Given the description of an element on the screen output the (x, y) to click on. 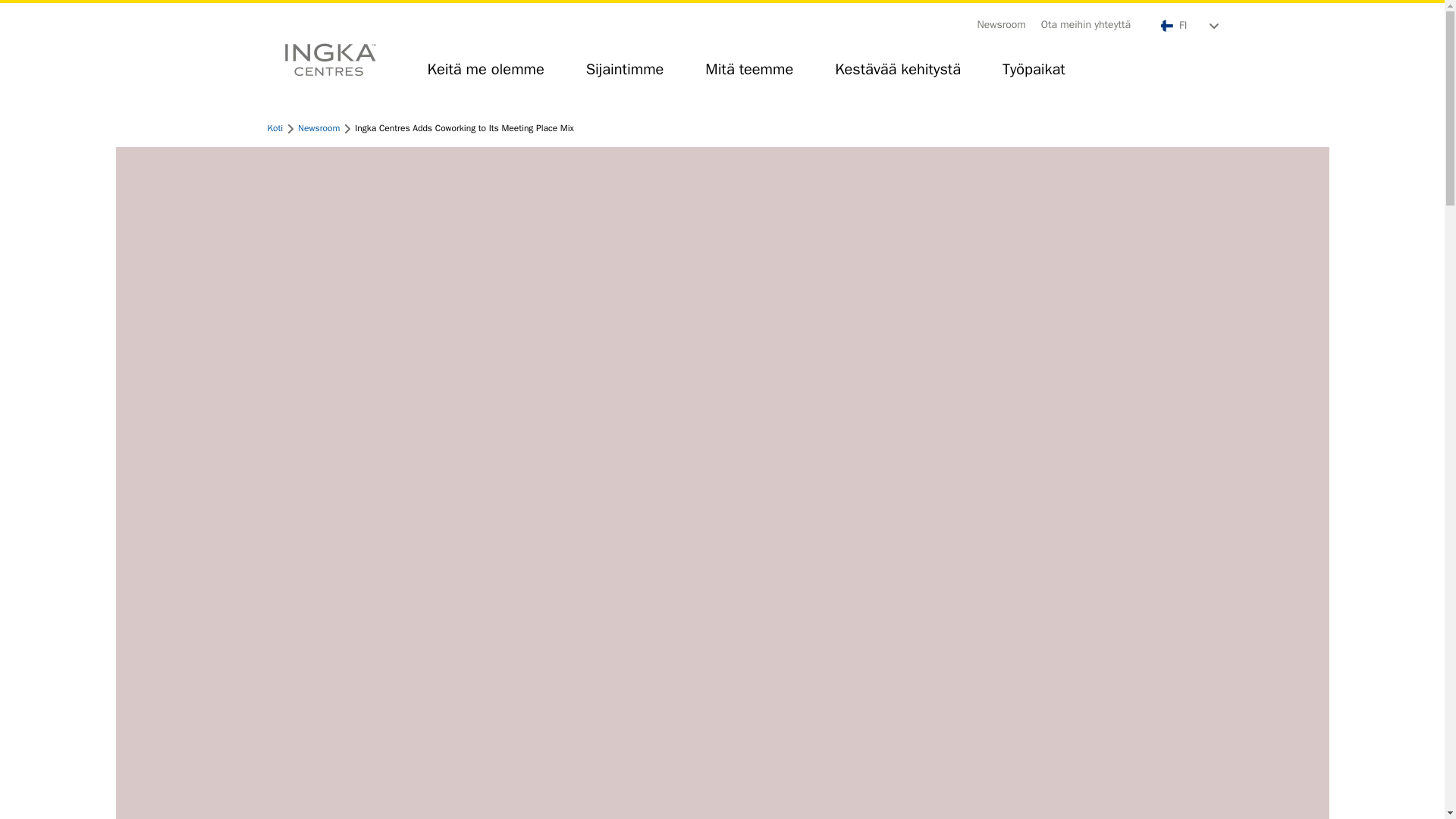
Newsroom (1000, 24)
Koti (274, 128)
Newsroom (318, 128)
Sijaintimme (624, 75)
